Given the description of an element on the screen output the (x, y) to click on. 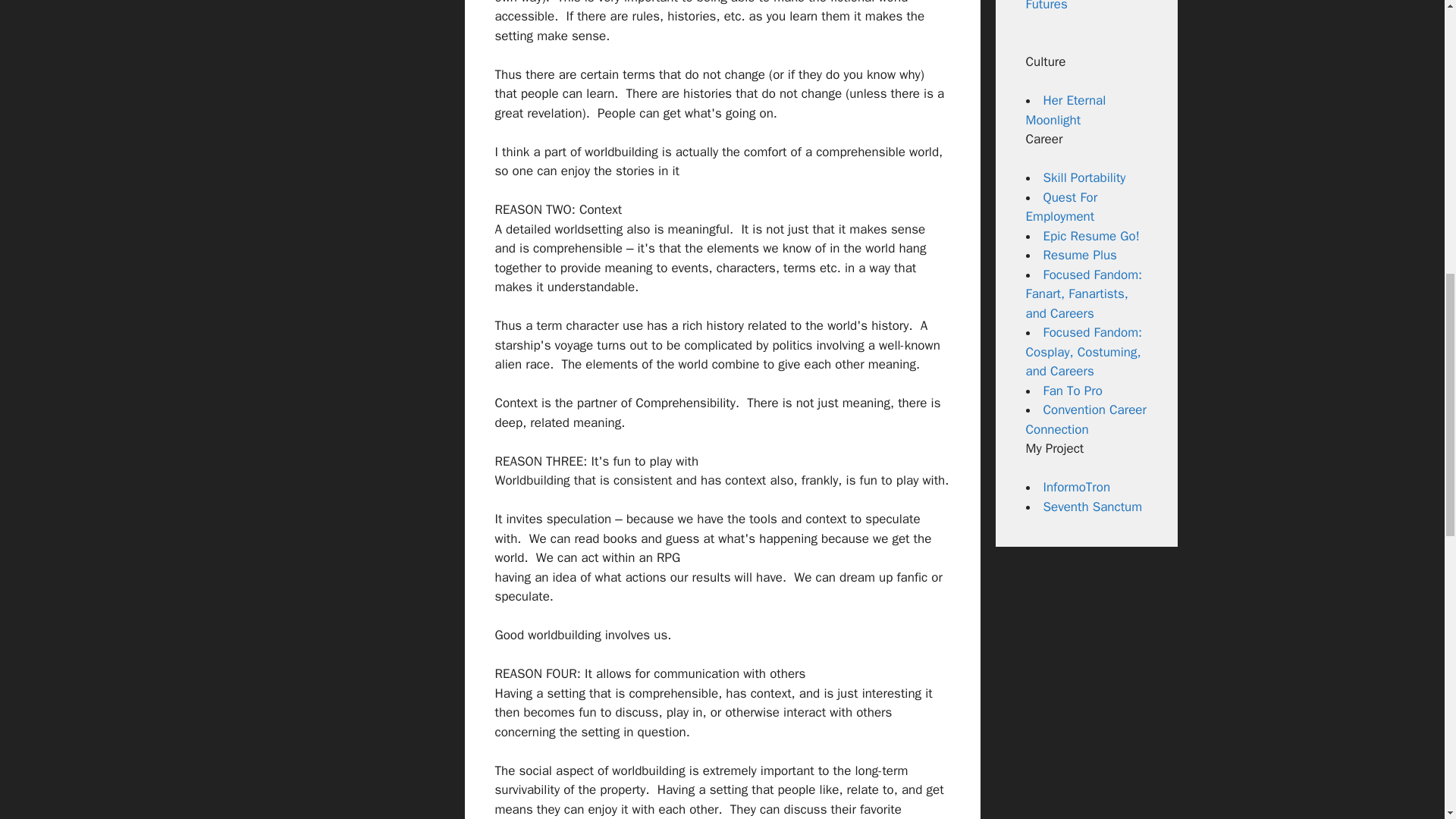
Scroll back to top (1406, 720)
